Given the description of an element on the screen output the (x, y) to click on. 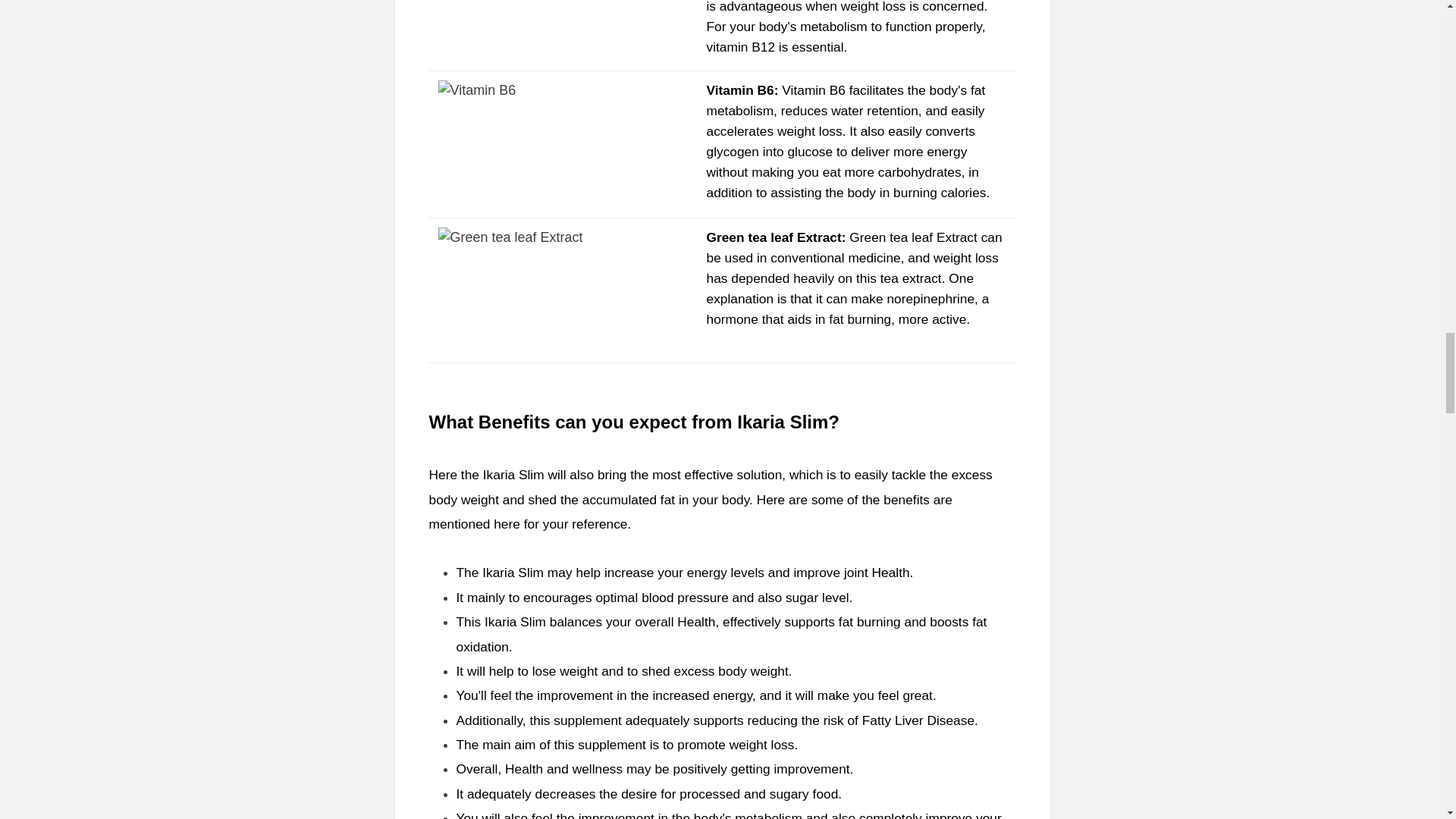
Green tea leaf Extract (773, 237)
Vitamin B6 (740, 89)
